Given the description of an element on the screen output the (x, y) to click on. 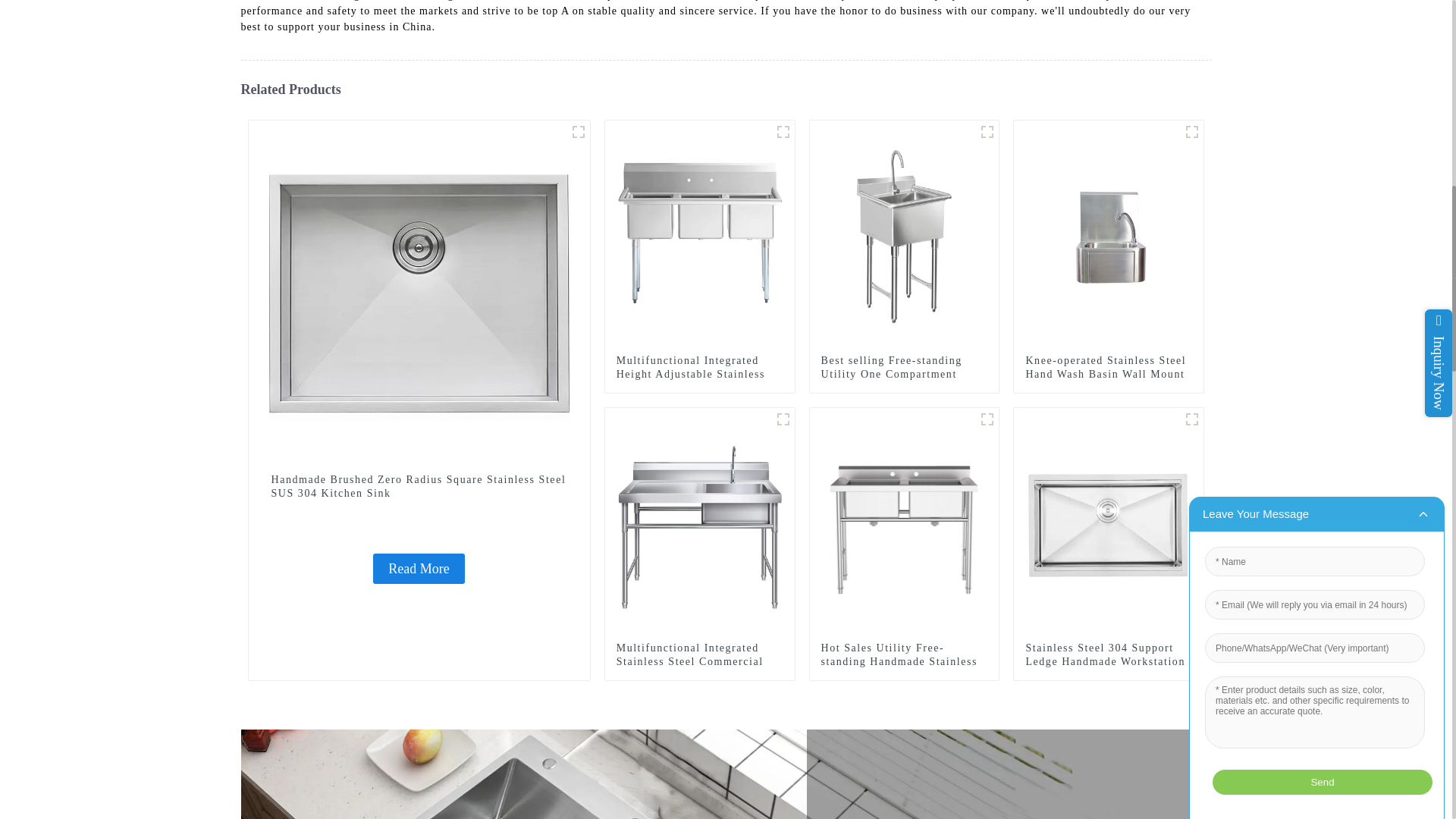
1 (782, 418)
1 (578, 131)
cst (782, 131)
ko1 (1192, 131)
css1 (986, 131)
